Given the description of an element on the screen output the (x, y) to click on. 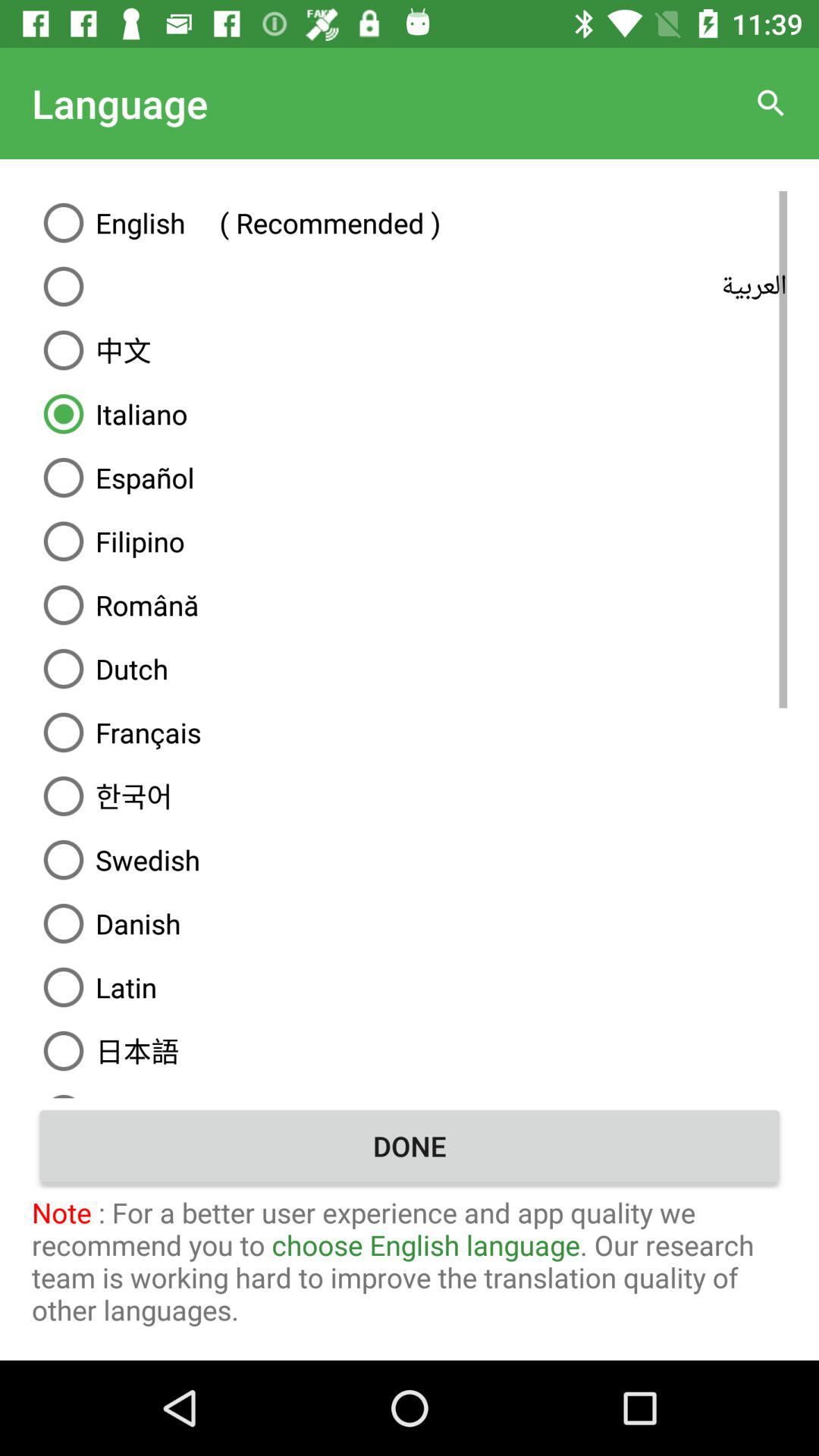
select the option below latin (409, 1051)
